Given the description of an element on the screen output the (x, y) to click on. 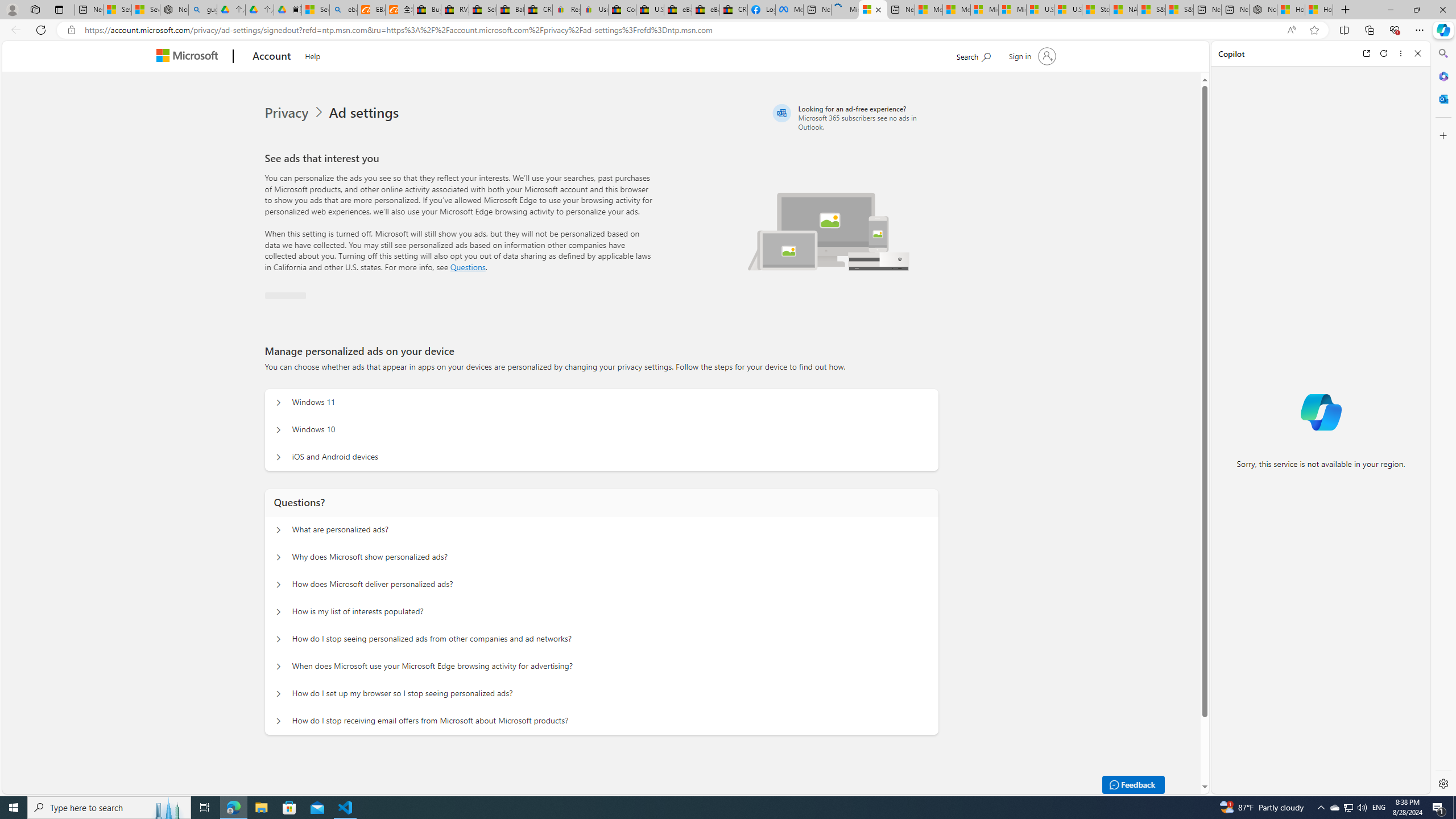
Questions? How does Microsoft deliver personalized ads? (278, 584)
Help (312, 54)
Account (272, 56)
Consumer Health Data Privacy Policy - eBay Inc. (621, 9)
Help (312, 54)
Meta Store (789, 9)
